Given the description of an element on the screen output the (x, y) to click on. 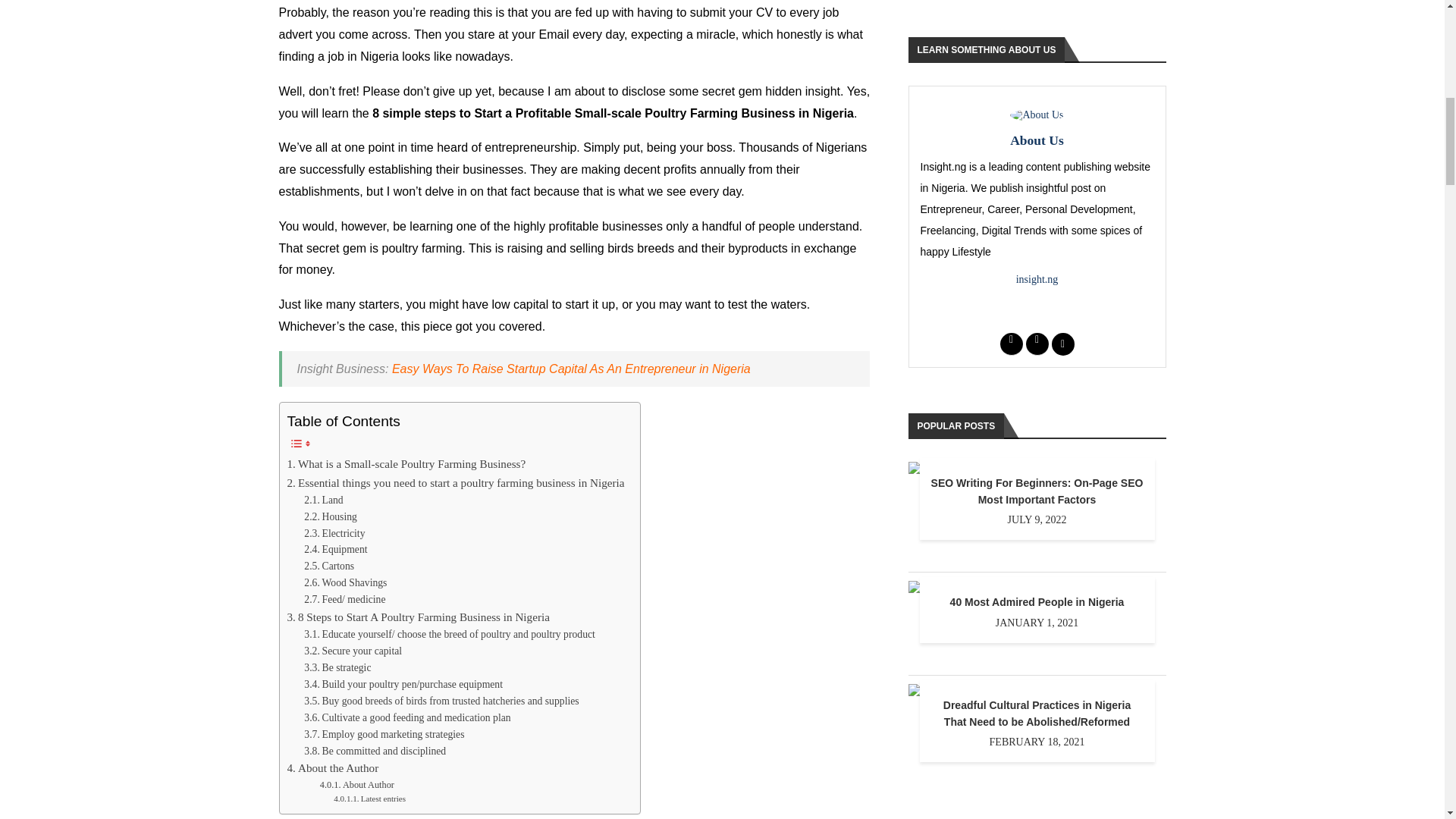
Land (323, 500)
Electricity (334, 533)
8 Steps to Start A Poultry Farming Business in Nigeria (417, 617)
Secure your capital (352, 651)
Be strategic (337, 668)
Equipment (335, 549)
What is a Small-scale Poultry Farming Business? (405, 464)
Housing (330, 516)
Wood Shavings (345, 582)
Cartons (328, 565)
